Given the description of an element on the screen output the (x, y) to click on. 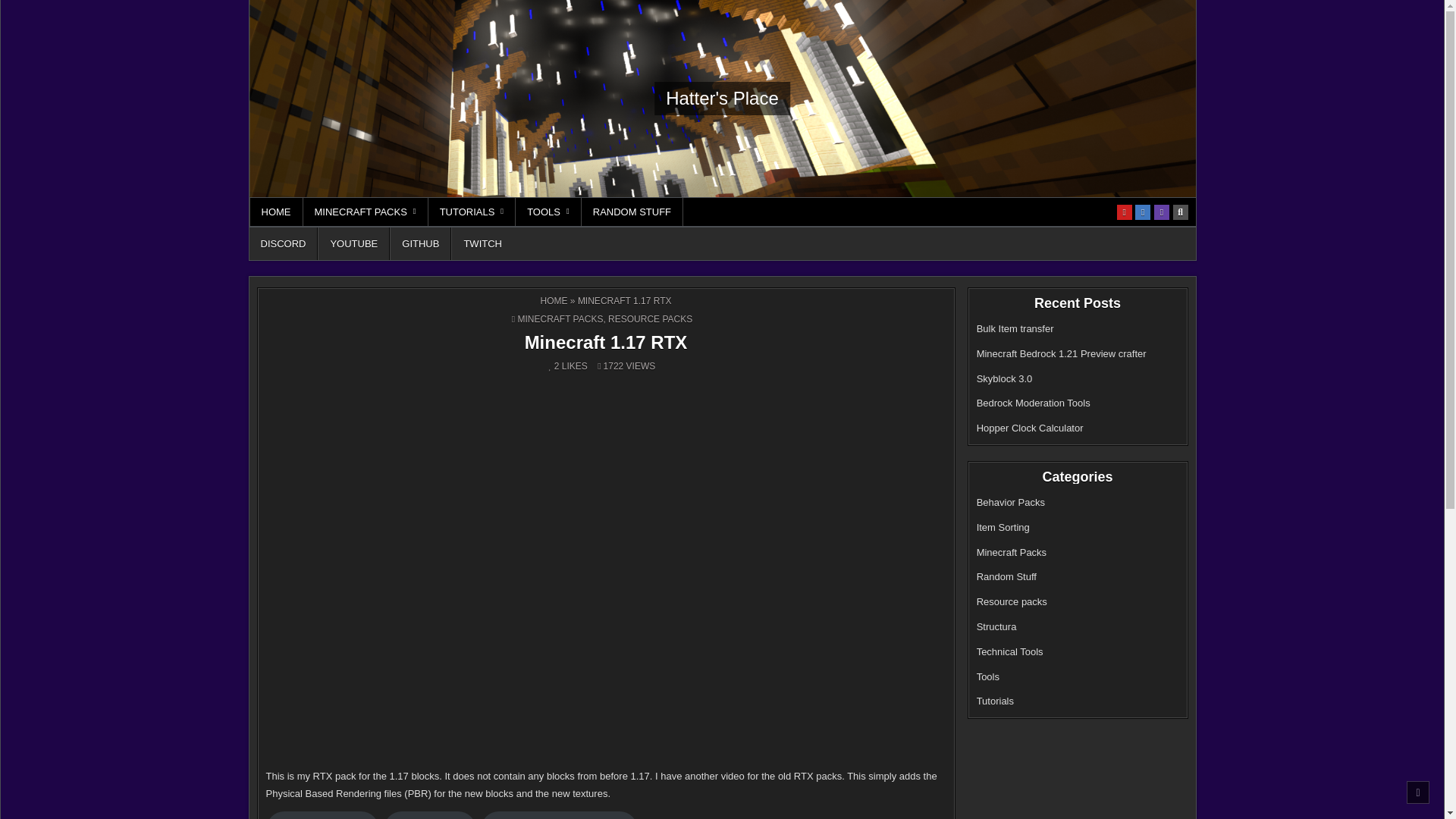
TOOLS (547, 212)
DISCORD (282, 243)
Minecraft 1.17 RTX (605, 342)
My Softener (430, 815)
Cliffs and Caves (321, 815)
HOME (553, 300)
Like this (553, 366)
1722 Views (609, 366)
RANDOM STUFF (631, 212)
YOUTUBE (353, 243)
HOME (275, 212)
RESOURCE PACKS (650, 318)
GITHUB (420, 243)
SCROLL TO TOP (1417, 792)
